Given the description of an element on the screen output the (x, y) to click on. 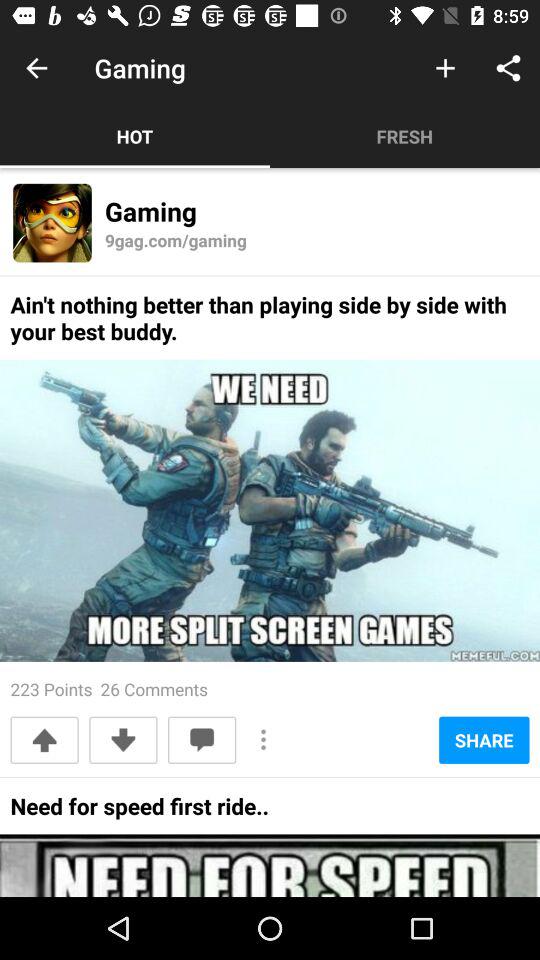
swipe to the ain t nothing icon (269, 324)
